Given the description of an element on the screen output the (x, y) to click on. 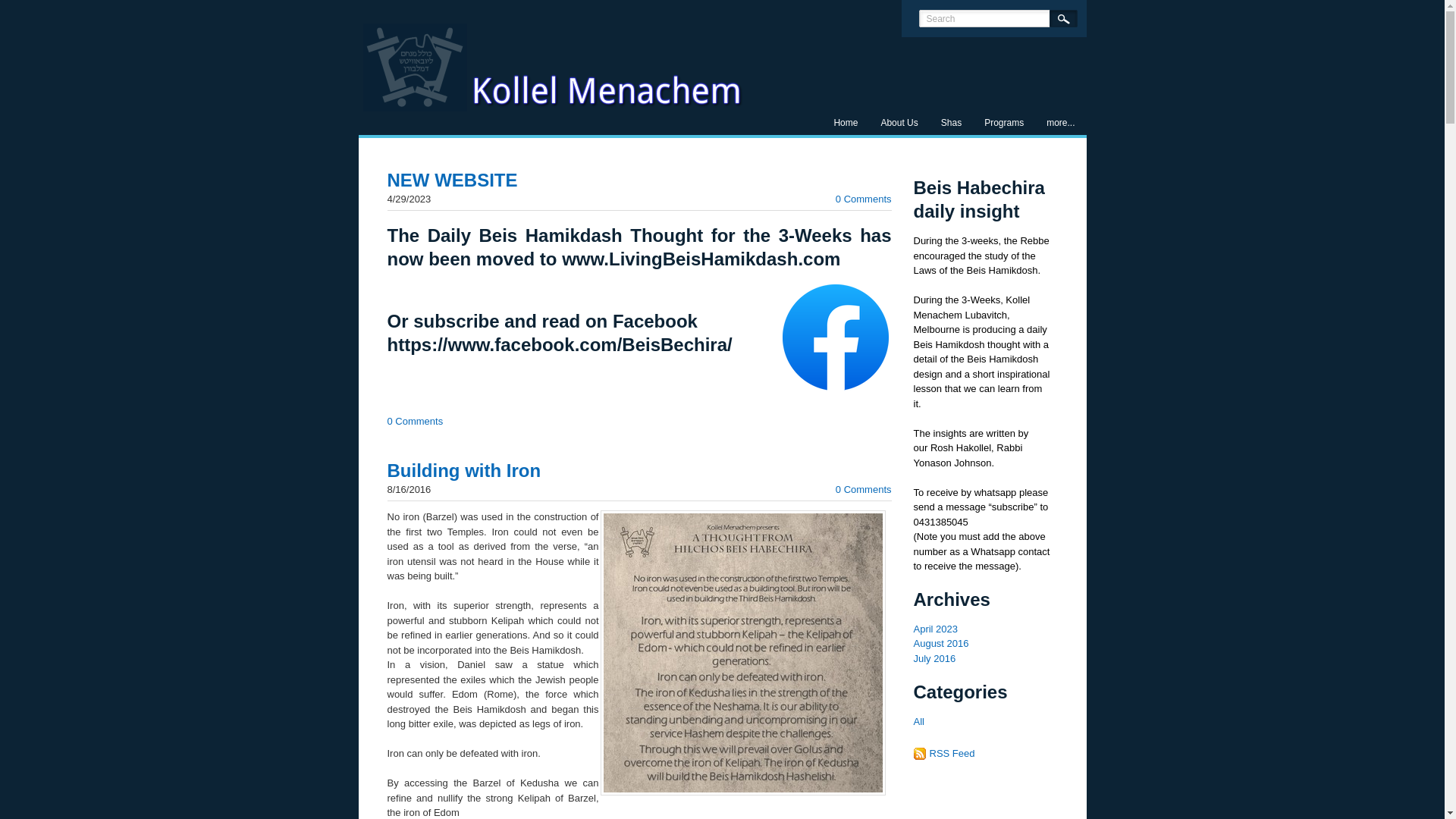
Home (845, 122)
Shas (951, 122)
more... (1060, 122)
Building with Iron (463, 470)
0 Comments (863, 198)
0 Comments (414, 420)
NEW WEBSITE (451, 179)
0 Comments (863, 489)
About Us (898, 122)
Programs (1003, 122)
